Given the description of an element on the screen output the (x, y) to click on. 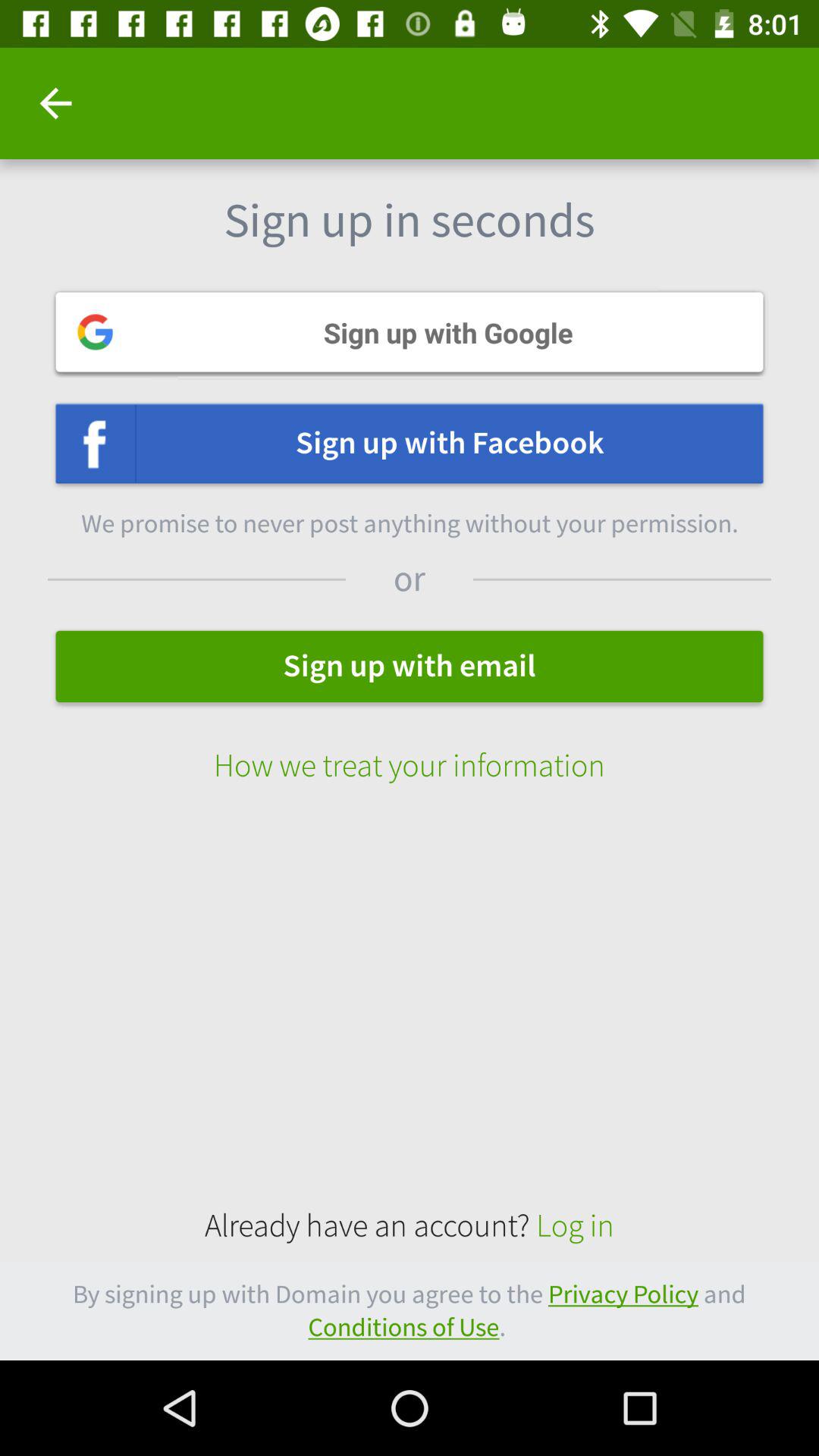
tap the by signing up icon (409, 1311)
